Given the description of an element on the screen output the (x, y) to click on. 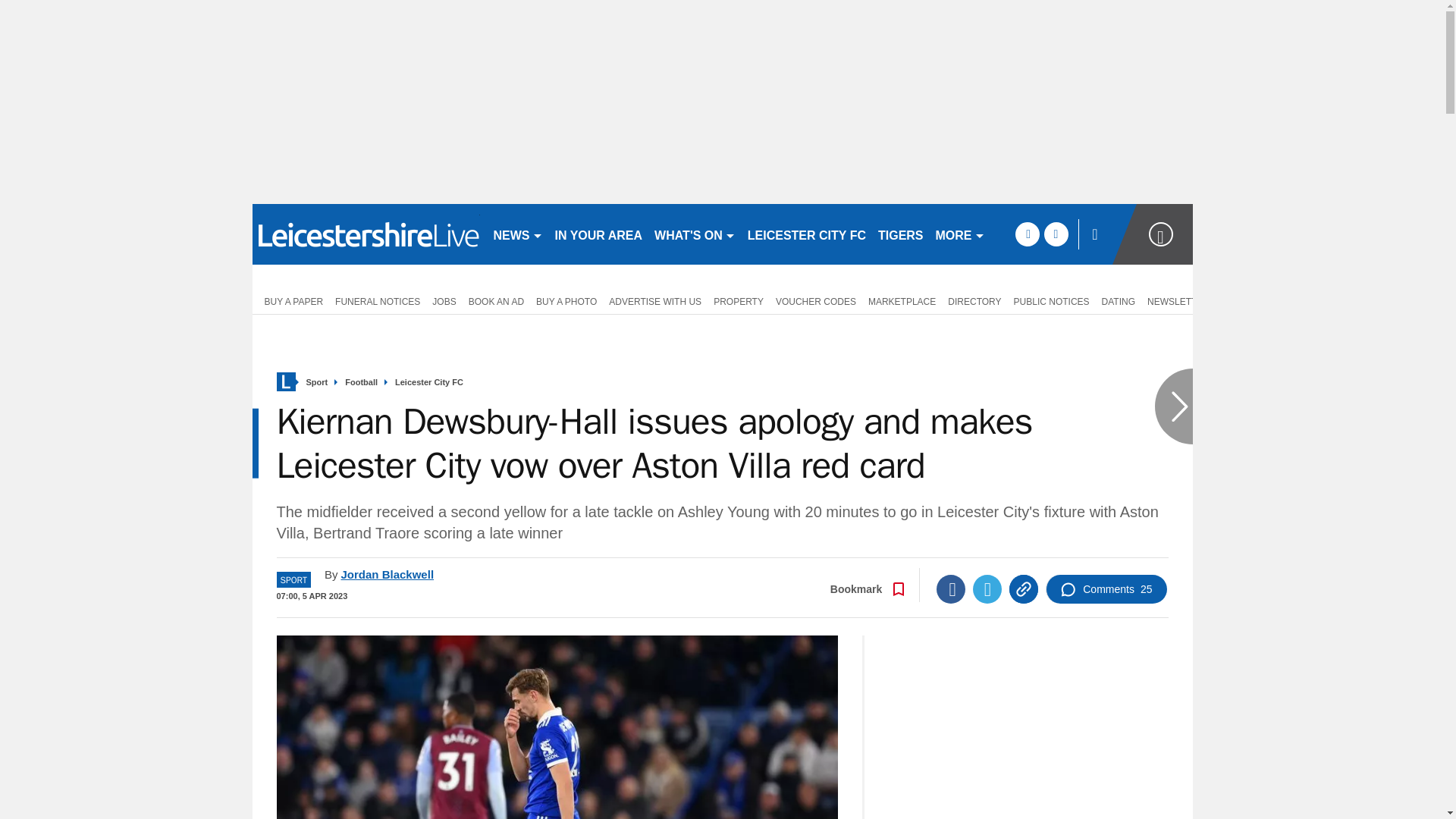
Facebook (950, 588)
leicestermercury (365, 233)
IN YOUR AREA (598, 233)
twitter (1055, 233)
LEICESTER CITY FC (806, 233)
Twitter (986, 588)
TIGERS (901, 233)
WHAT'S ON (694, 233)
NEWS (517, 233)
Comments (1105, 588)
